Given the description of an element on the screen output the (x, y) to click on. 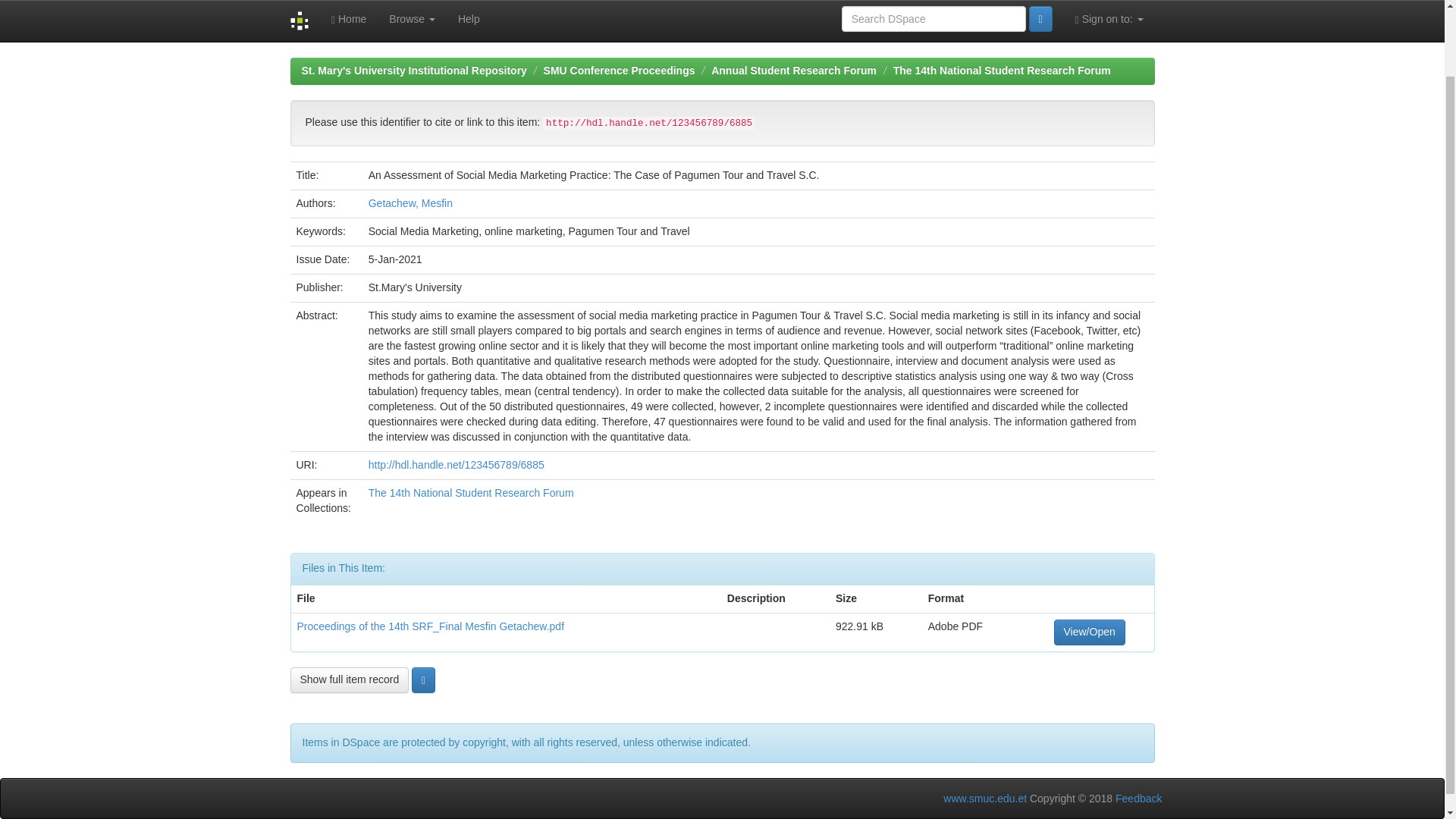
Show full item record (349, 679)
www.smuc.edu.et (984, 798)
SMU Conference Proceedings (619, 70)
Annual Student Research Forum (793, 70)
St. Mary's University Institutional Repository (414, 70)
Getachew, Mesfin (410, 203)
Feedback (1138, 798)
The 14th National Student Research Forum (1001, 70)
The 14th National Student Research Forum (470, 492)
